Given the description of an element on the screen output the (x, y) to click on. 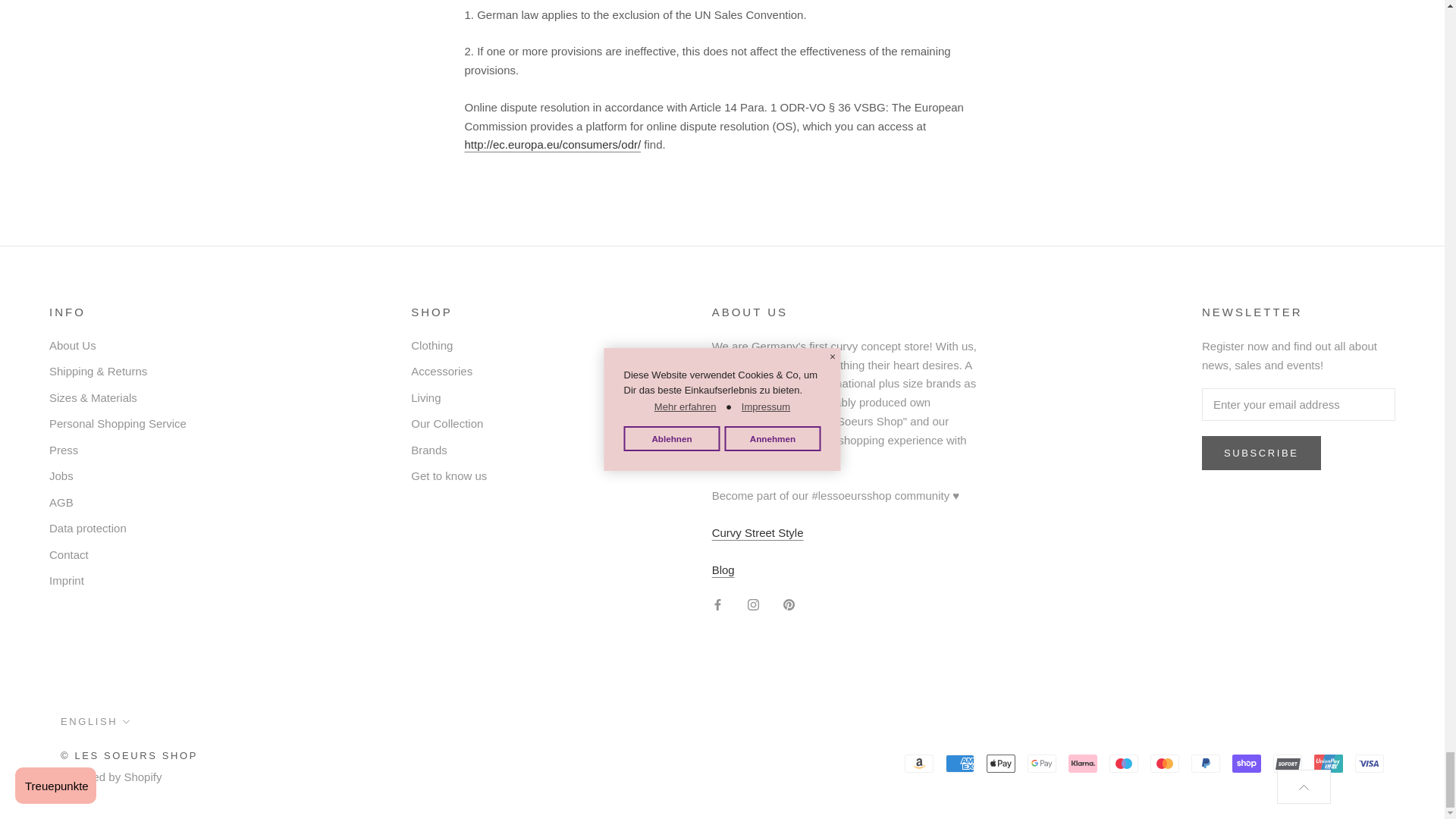
Visa (1369, 763)
SOFORT (1286, 763)
American Express (959, 763)
Maestro (1123, 763)
Google Pay (1042, 763)
Blog (723, 569)
Shop Pay (1245, 763)
Apple Pay (1000, 763)
Mastercard (1164, 763)
Union Pay (1328, 763)
Amazon (918, 763)
PayPal (1205, 763)
Street Style (757, 532)
Klarna (1082, 763)
